Given the description of an element on the screen output the (x, y) to click on. 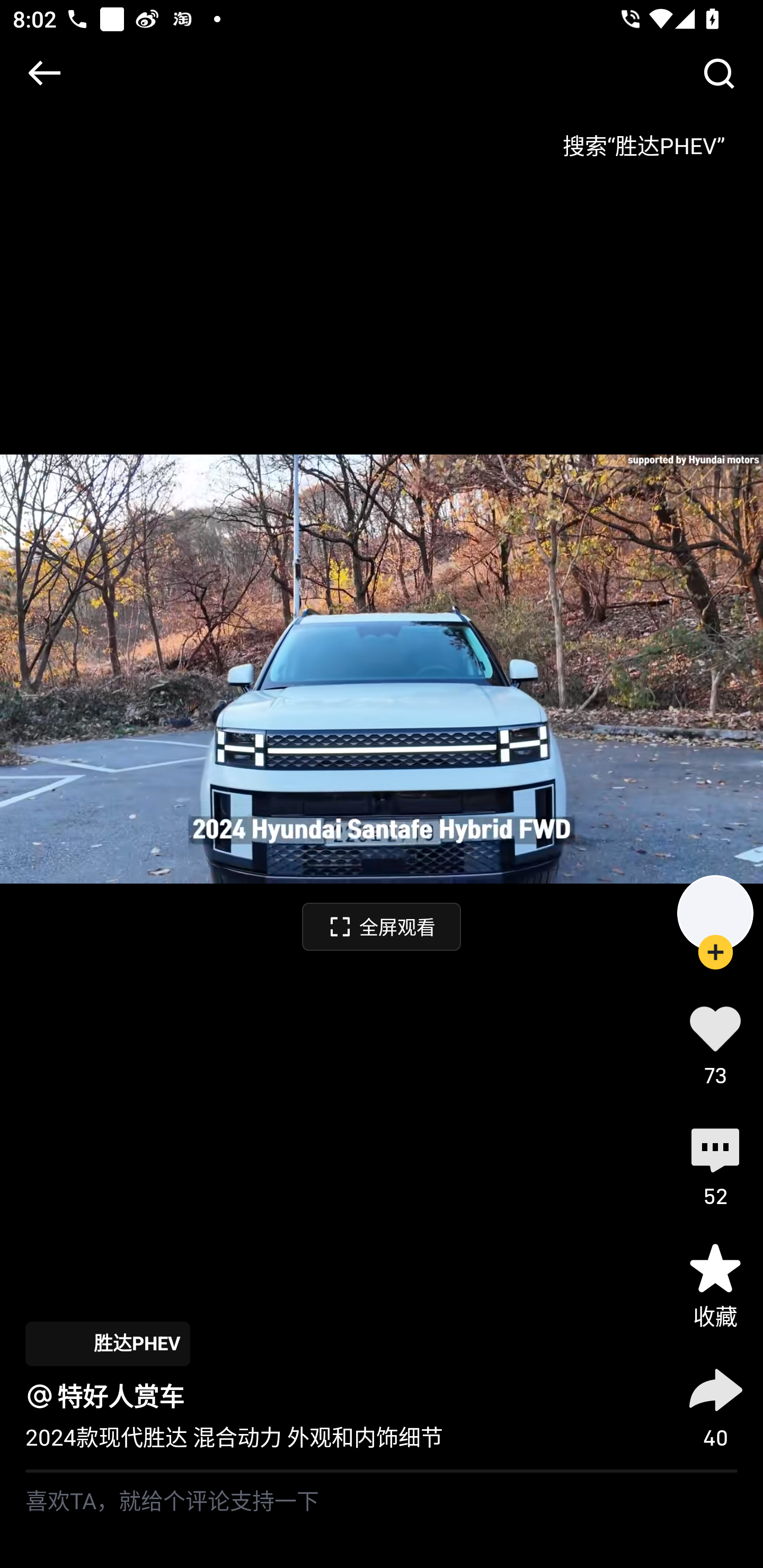
 (44, 72)
 (718, 72)
搜索“胜达PHEV” (643, 139)
 全屏观看 (381, 926)
52 (715, 1164)
收藏 (715, 1284)
胜达PHEV (107, 1343)
40 (715, 1405)
特好人赏车 (120, 1396)
2024款现代胜达 混合动力 外观和内饰细节 (234, 1437)
喜欢TA，就给个评论支持一下 (381, 1520)
